Given the description of an element on the screen output the (x, y) to click on. 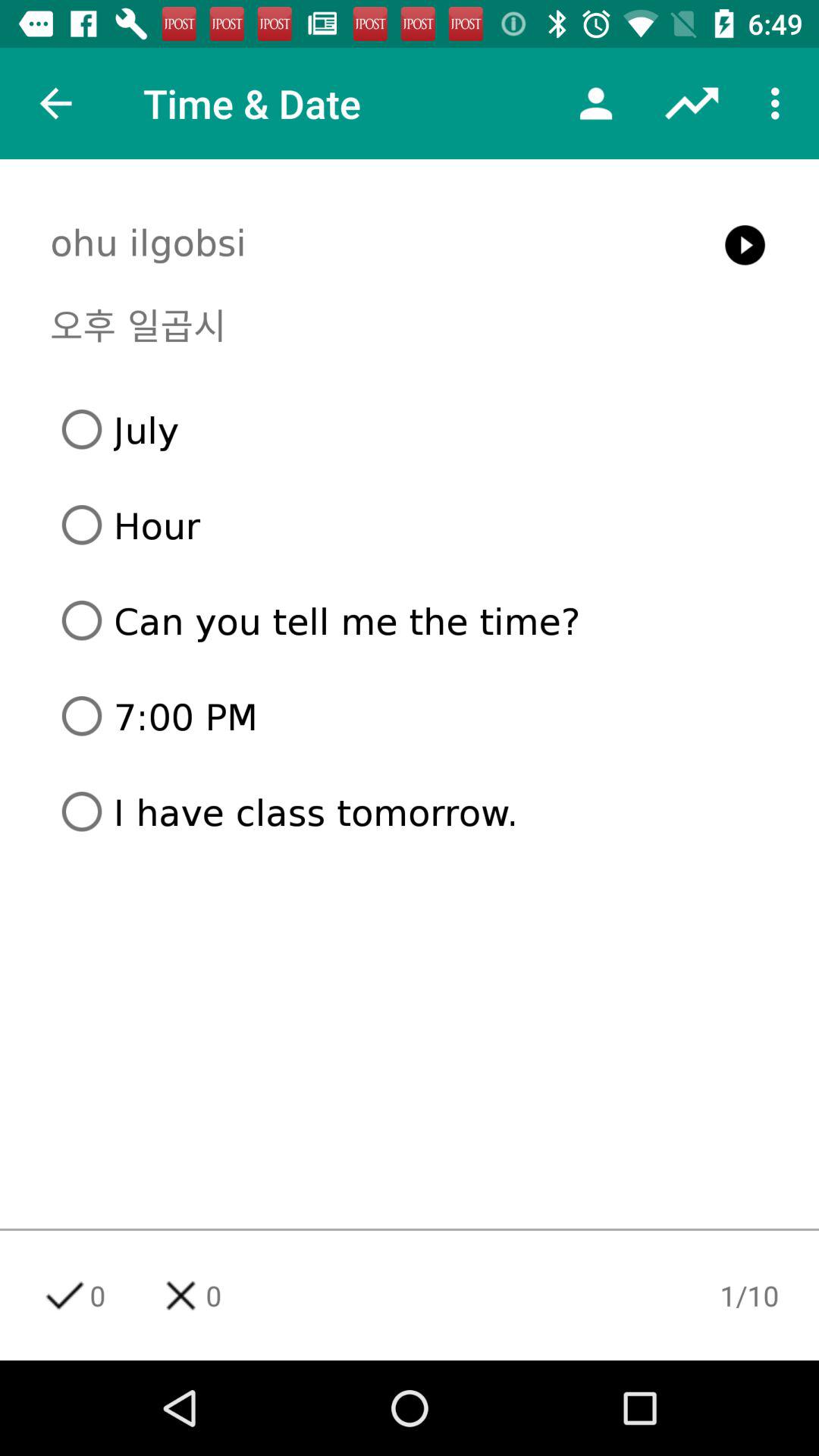
turn on the icon below the 7:00 pm (415, 811)
